Given the description of an element on the screen output the (x, y) to click on. 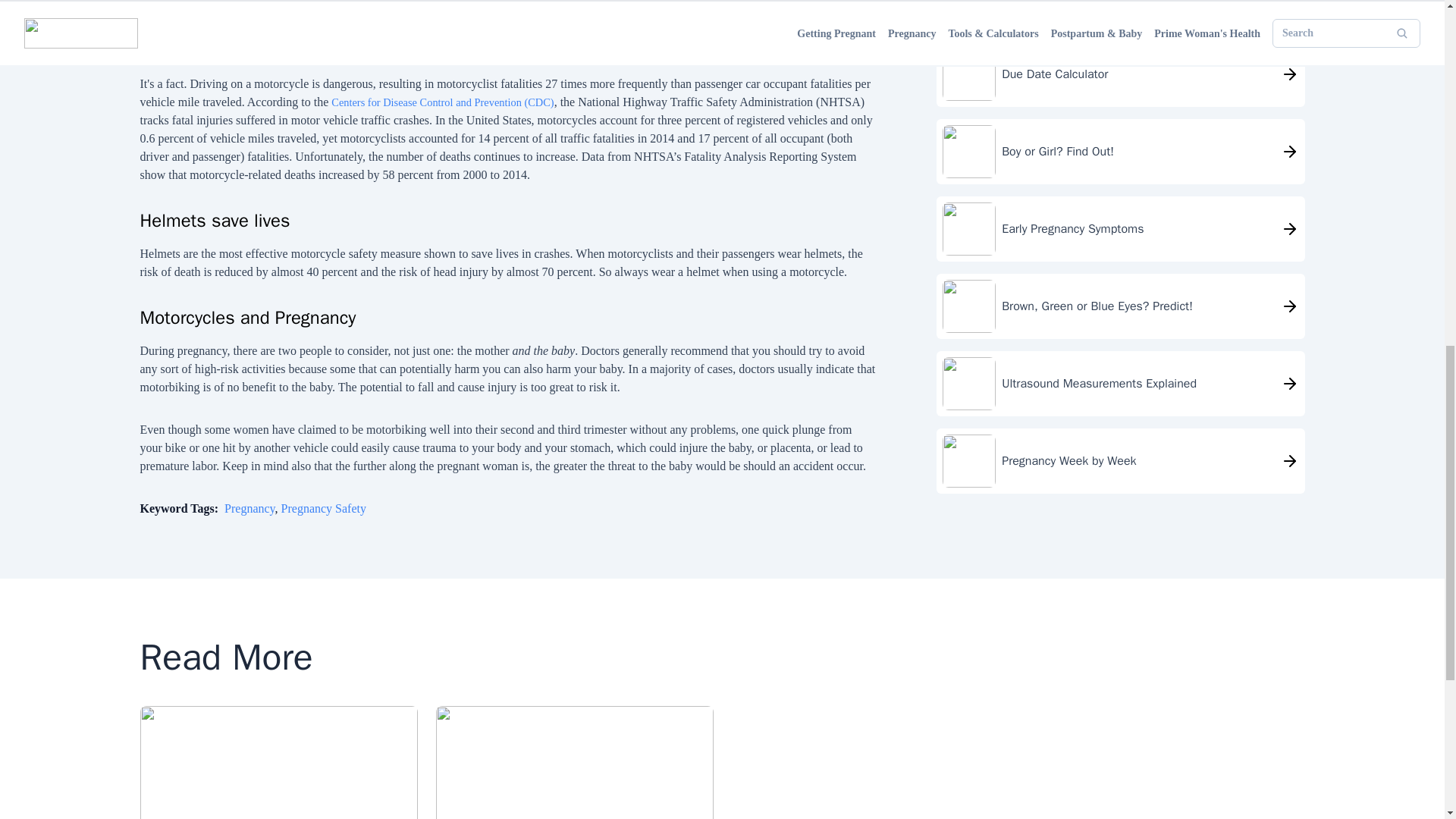
Pregnancy Week by Week (1120, 56)
Ultrasound Measurements Explained (1120, 6)
Keyword Tags:Pregnancy (207, 508)
Pregnancy Safety (323, 508)
